Given the description of an element on the screen output the (x, y) to click on. 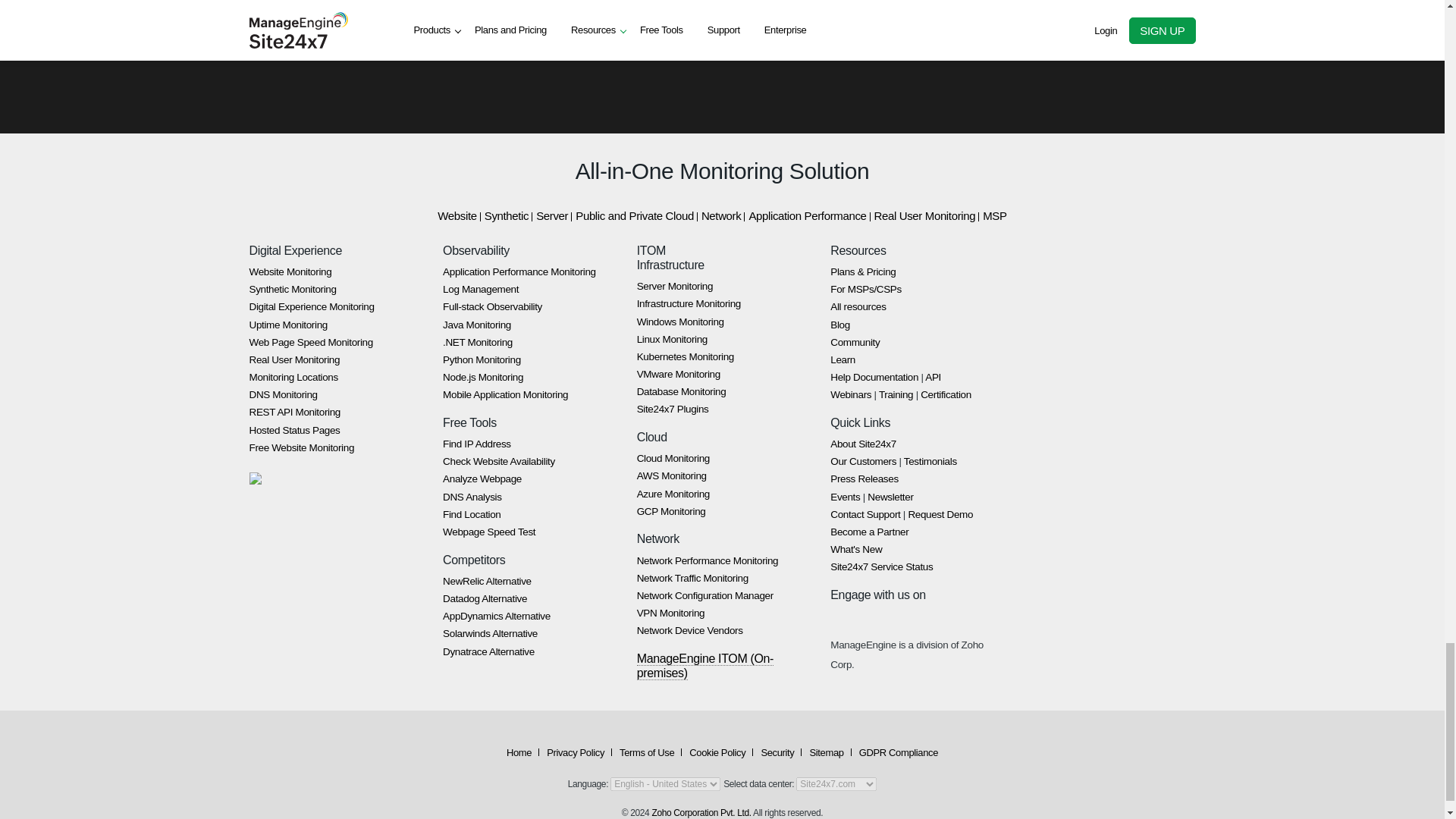
Managed Service Provider (865, 288)
Zoho Corporation Pvt. Ltd. (700, 812)
Uptime Monitoring (287, 324)
START YOUR FREE TRIAL (721, 26)
